Given the description of an element on the screen output the (x, y) to click on. 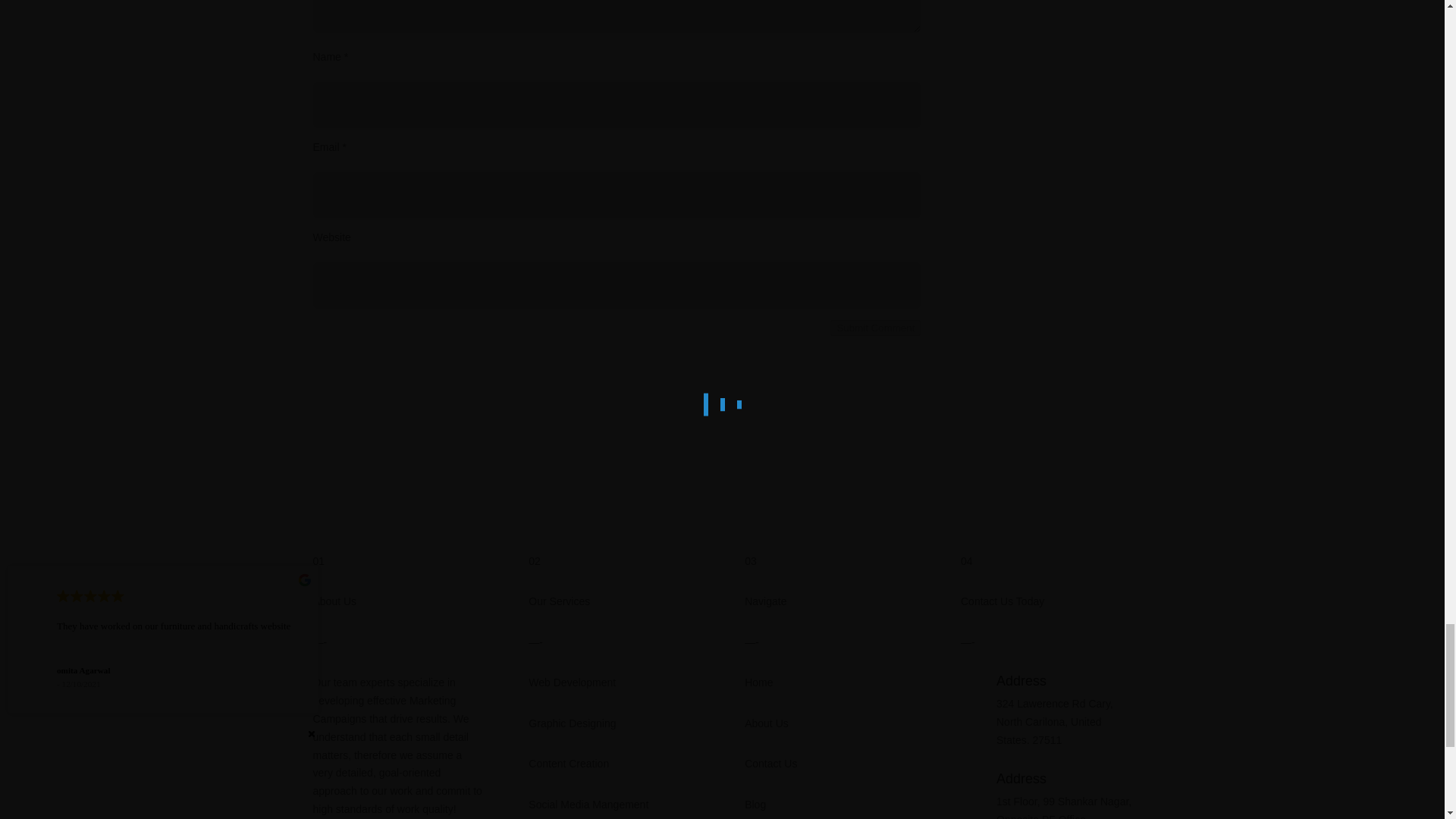
Submit Comment (874, 327)
